Given the description of an element on the screen output the (x, y) to click on. 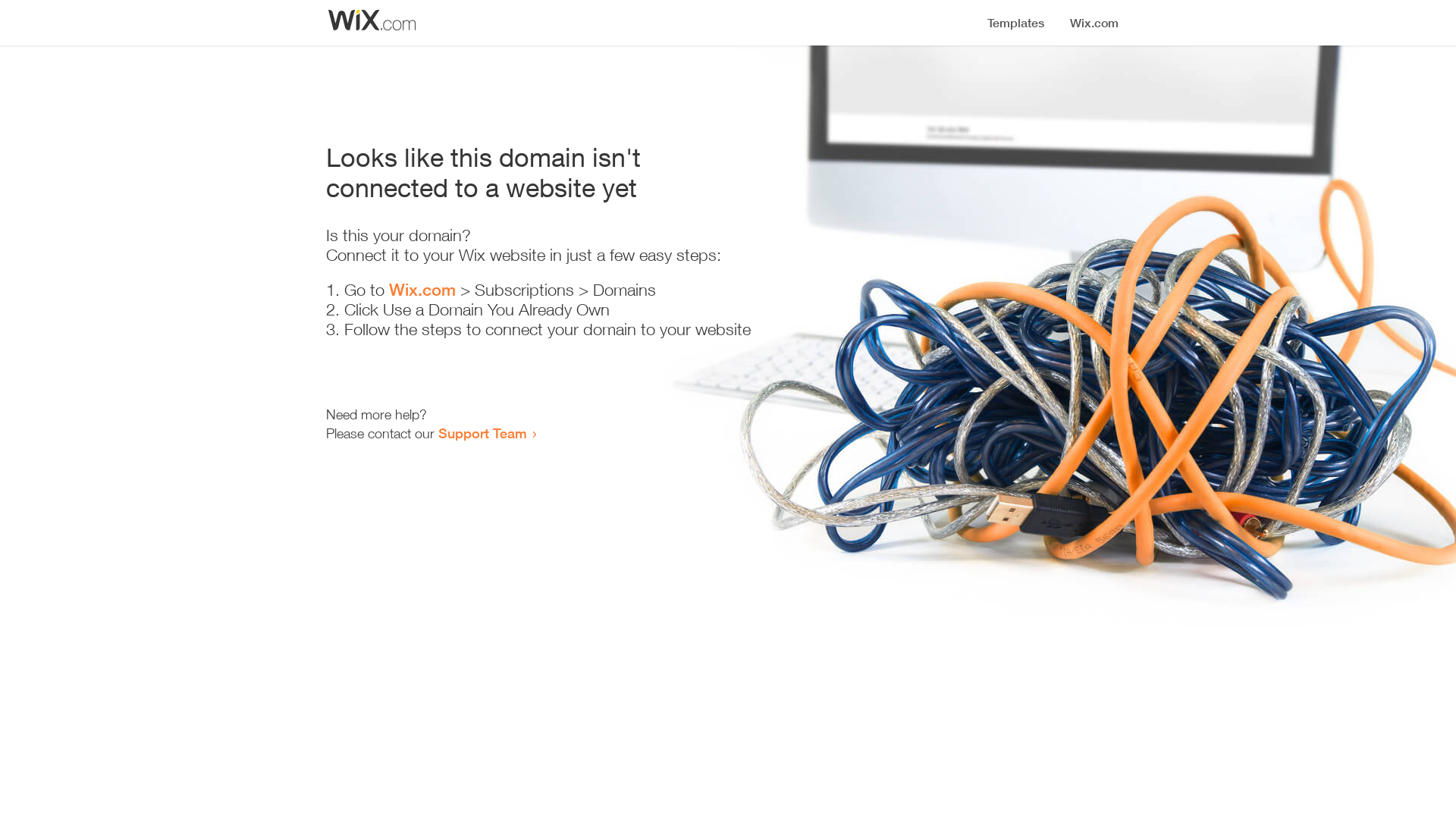
Wix.com Element type: text (422, 289)
Support Team Element type: text (482, 432)
